Given the description of an element on the screen output the (x, y) to click on. 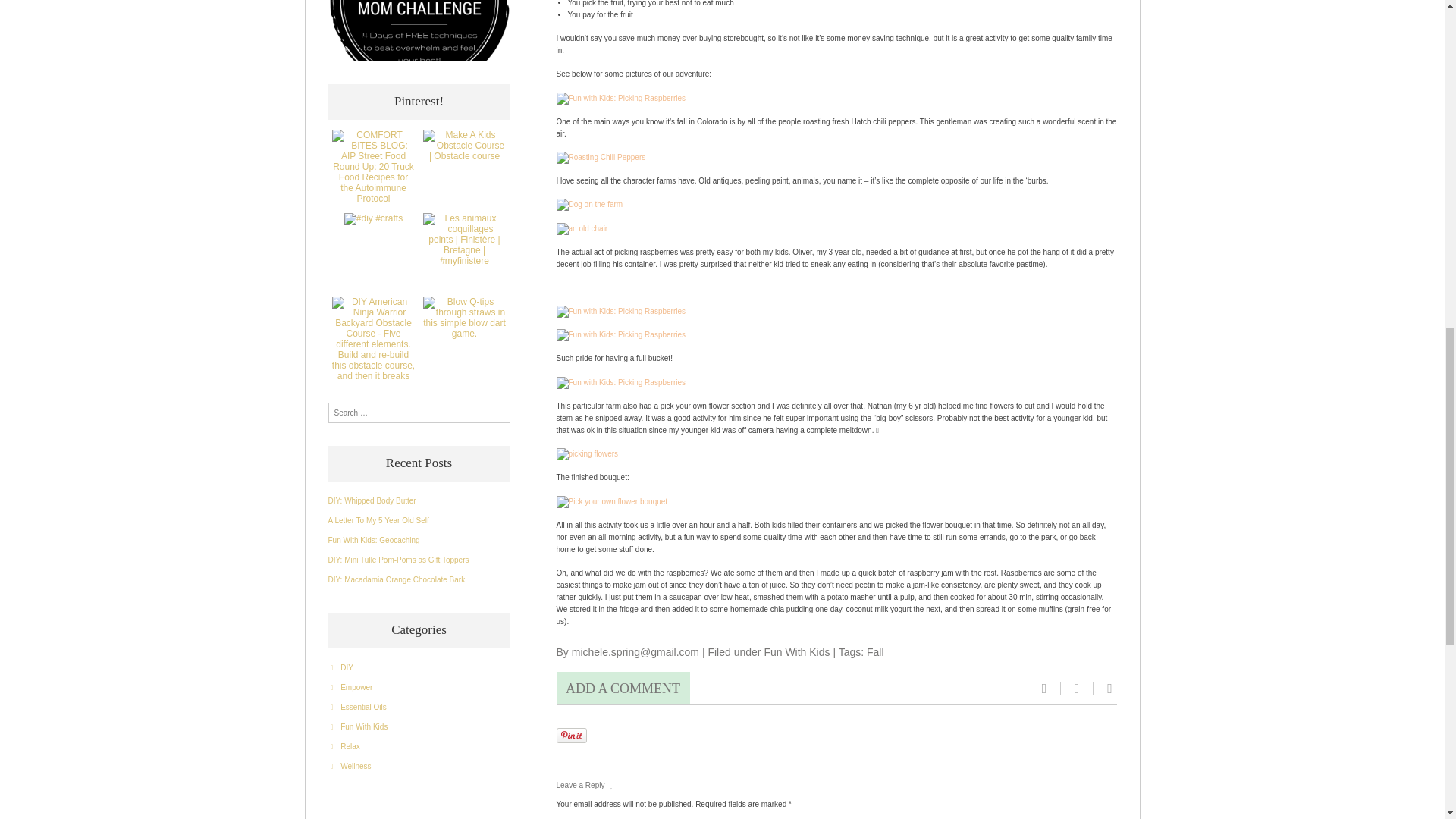
Fun With Kids (795, 652)
Pin It (571, 735)
Fall (874, 652)
ADD A COMMENT (623, 687)
